Given the description of an element on the screen output the (x, y) to click on. 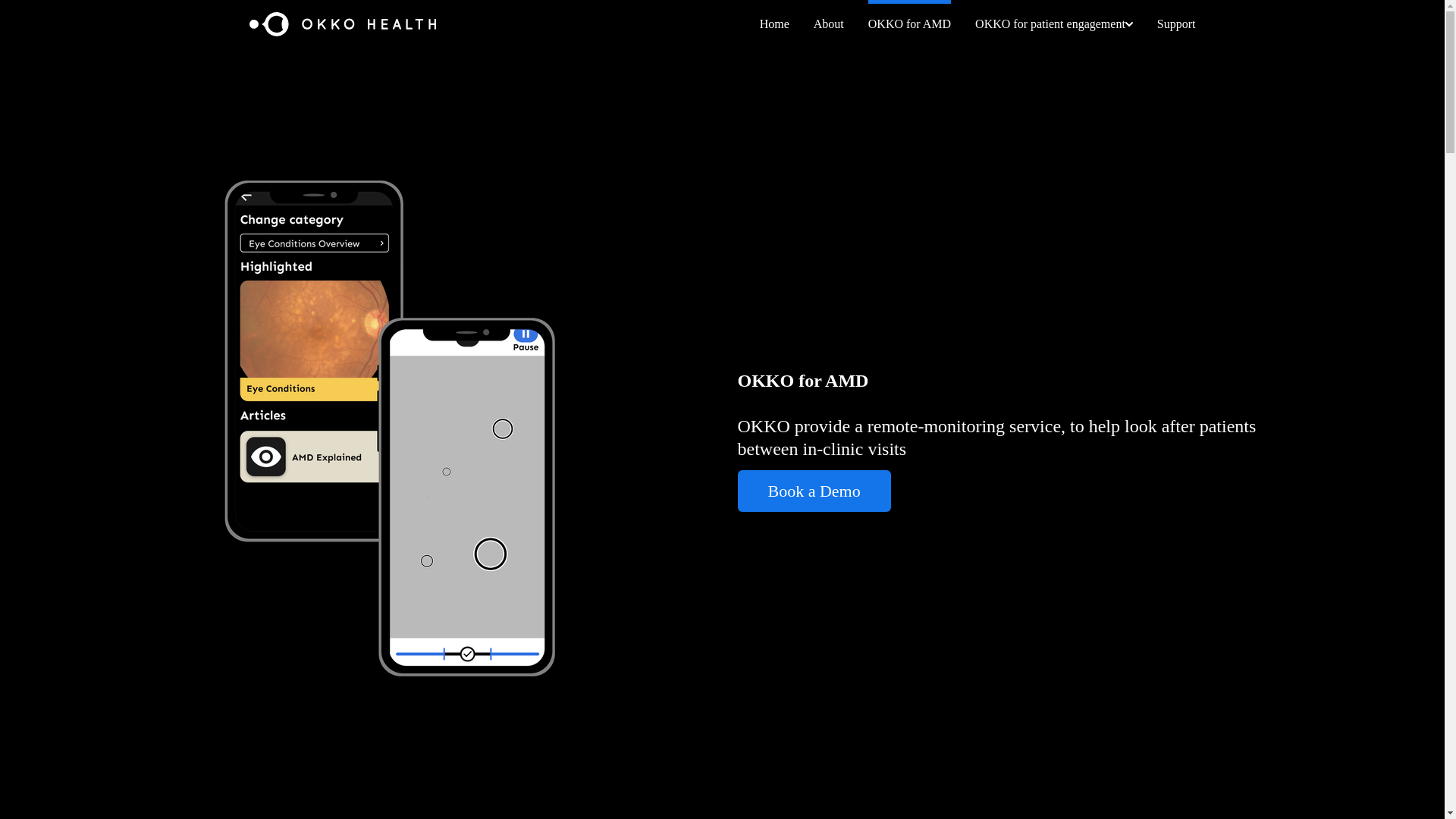
Support (1176, 24)
Home (774, 24)
OKKO for AMD (908, 24)
Book a Demo (812, 490)
OKKO for patient engagement (1053, 24)
About (828, 24)
